Given the description of an element on the screen output the (x, y) to click on. 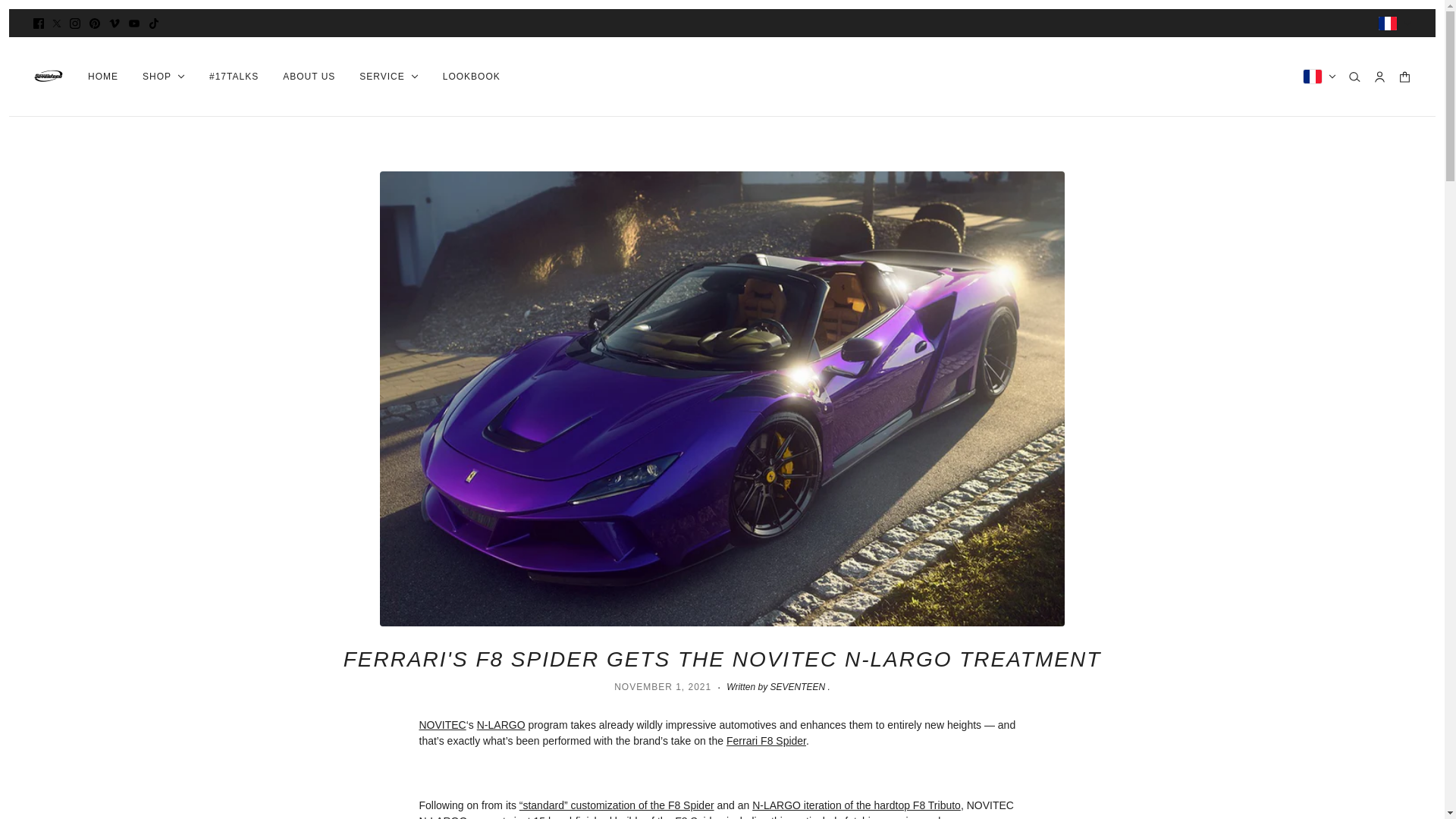
Ferrari F8 Spider (766, 740)
NOVITEC (442, 725)
LOOKBOOK (471, 76)
SERVICE (388, 76)
ABOUT US (308, 76)
SEVENTEENTHEBRAND (48, 76)
